Given the description of an element on the screen output the (x, y) to click on. 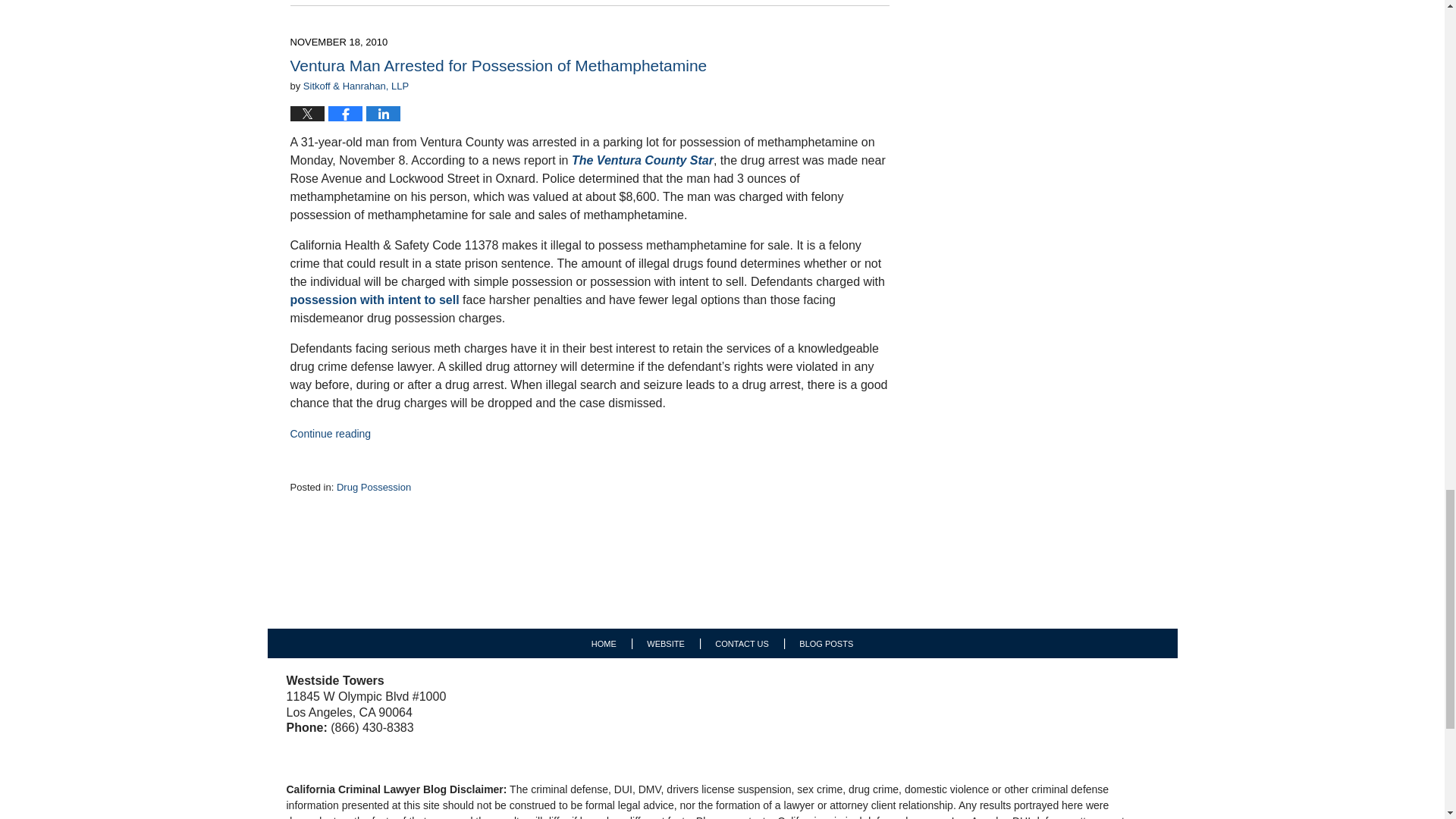
The Ventura County Star (642, 160)
Ventura Man Arrested for Possession of Methamphetamine (497, 65)
View all posts in Drug Possession (373, 487)
